Given the description of an element on the screen output the (x, y) to click on. 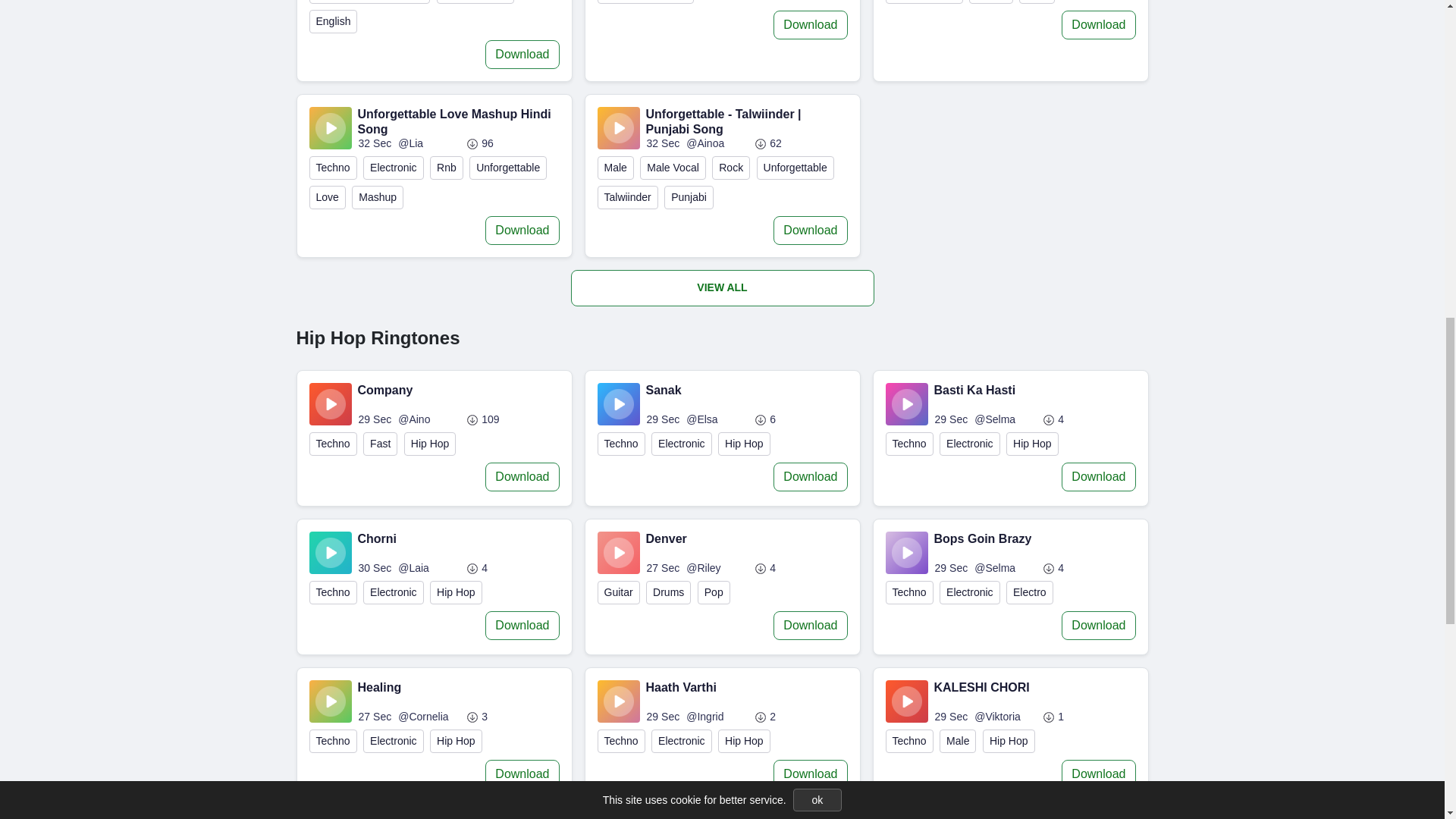
Unforgettable Why Not (369, 2)
Unforgettable (474, 2)
